Given the description of an element on the screen output the (x, y) to click on. 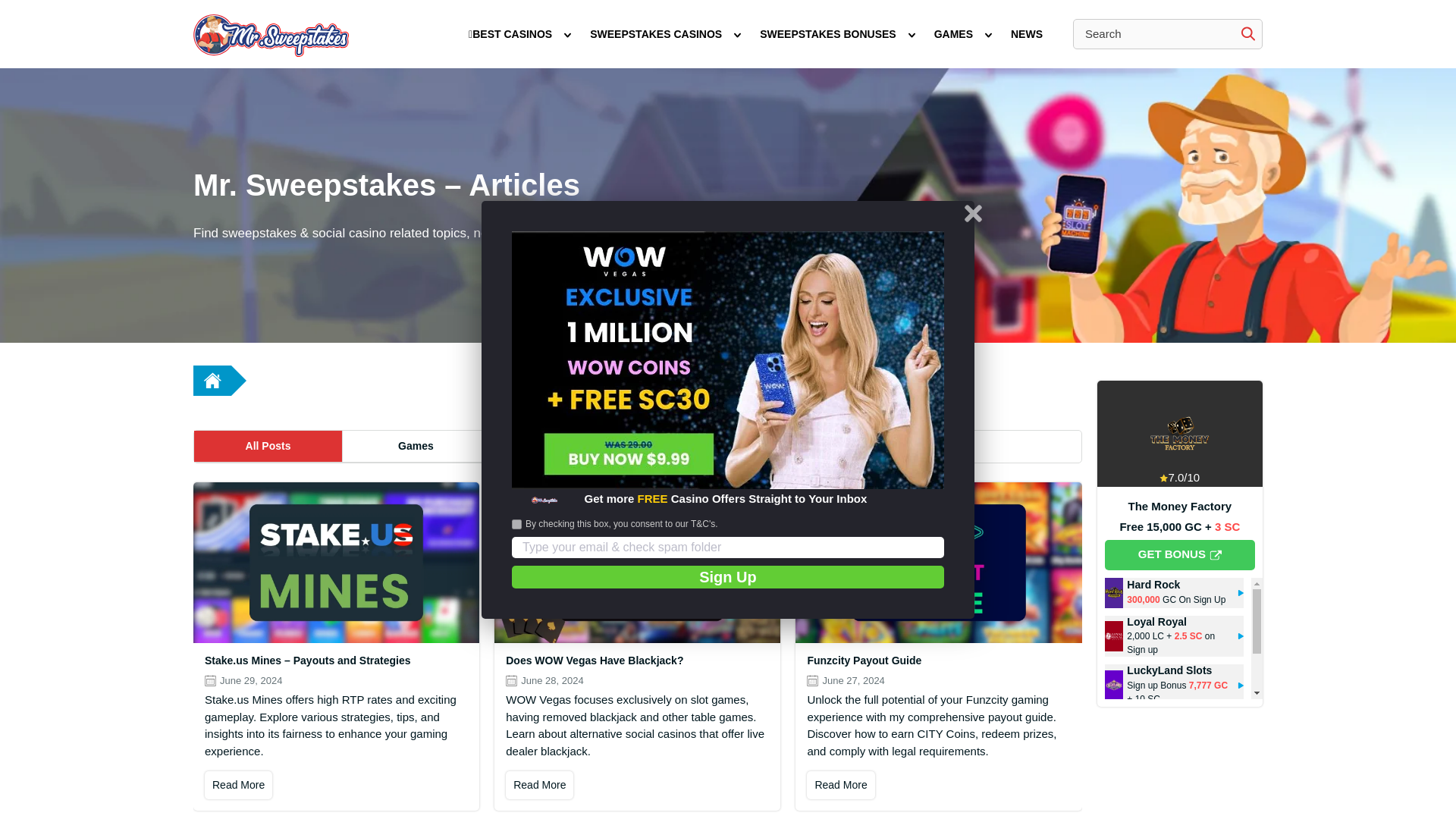
Sign Up (727, 576)
SWEEPSTAKES CASINOS (655, 33)
Close (972, 212)
Go to Mr Sweepstakes. (212, 380)
